Given the description of an element on the screen output the (x, y) to click on. 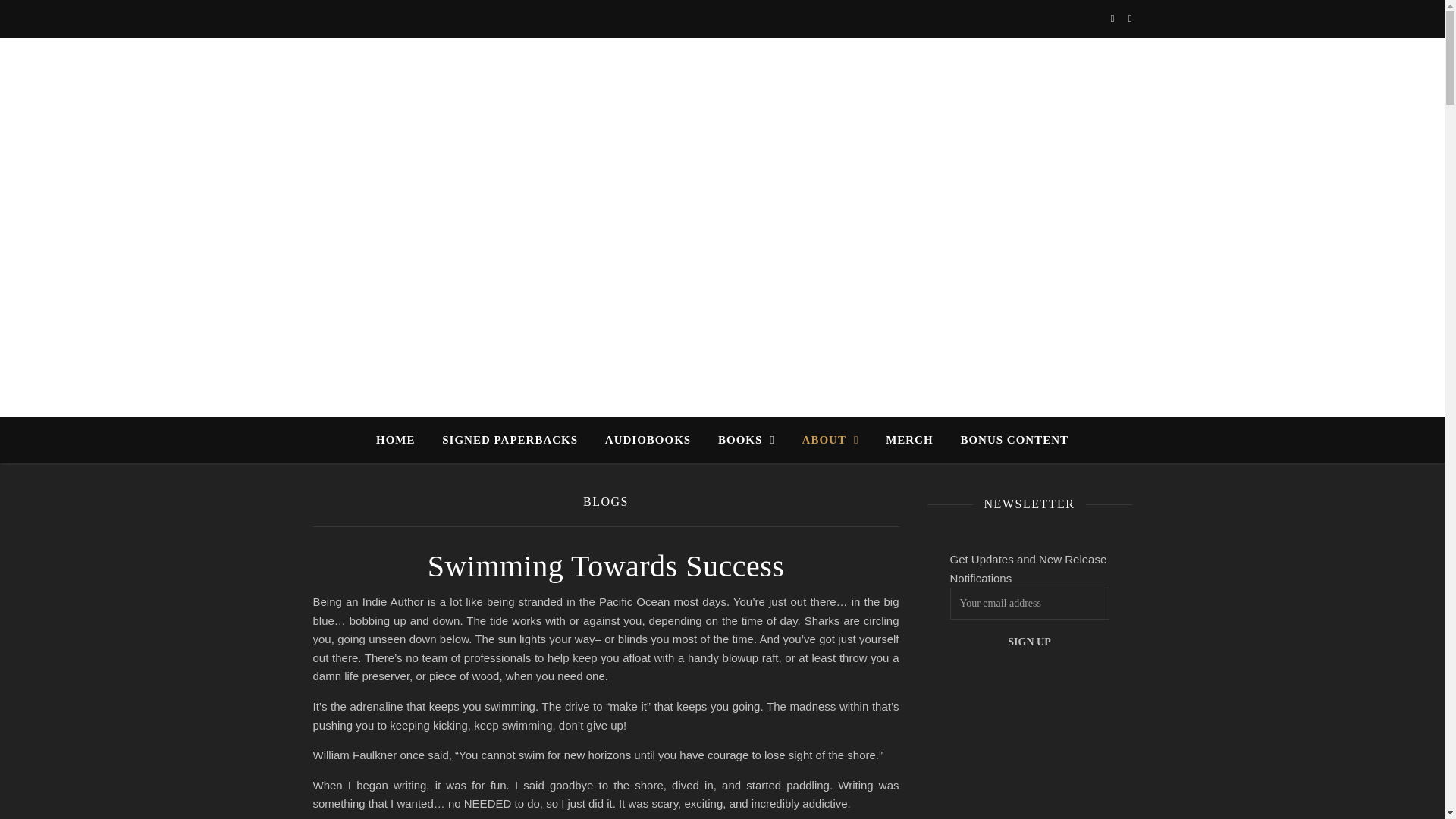
MERCH (908, 439)
ABOUT (830, 439)
Sign up (1028, 642)
SIGNED PAPERBACKS (509, 439)
BOOKS (746, 439)
AUDIOBOOKS (647, 439)
BONUS CONTENT (1007, 439)
HOME (401, 439)
